Given the description of an element on the screen output the (x, y) to click on. 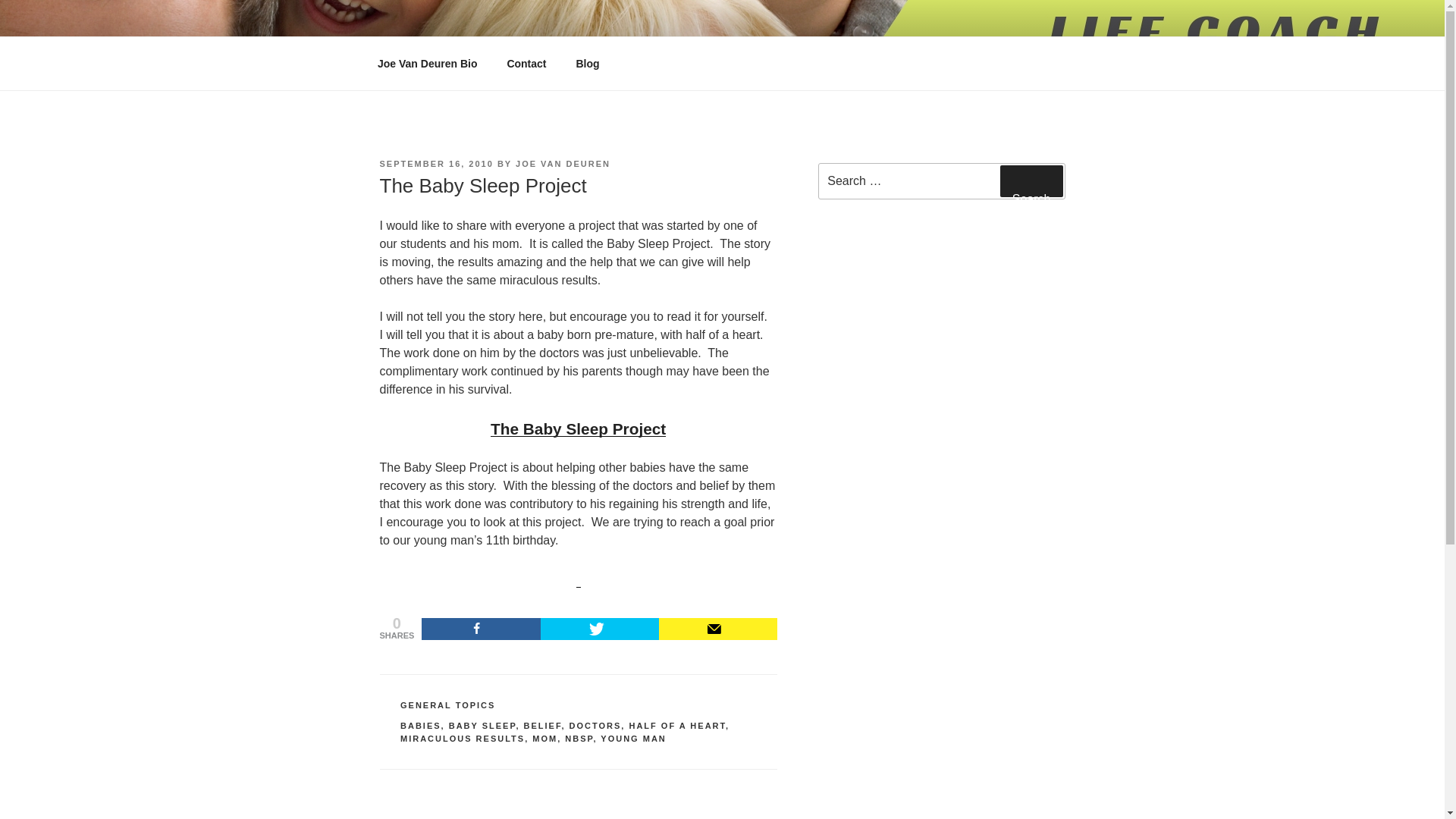
Subscribe (718, 628)
GENERAL TOPICS (447, 705)
Blog (587, 63)
YOUNG MAN (632, 737)
The Baby Sleep Project (577, 430)
BELIEF (541, 725)
DOCTORS (595, 725)
JOE VAN DEUREN (562, 163)
Joe Van Deuren Bio (426, 63)
